Given the description of an element on the screen output the (x, y) to click on. 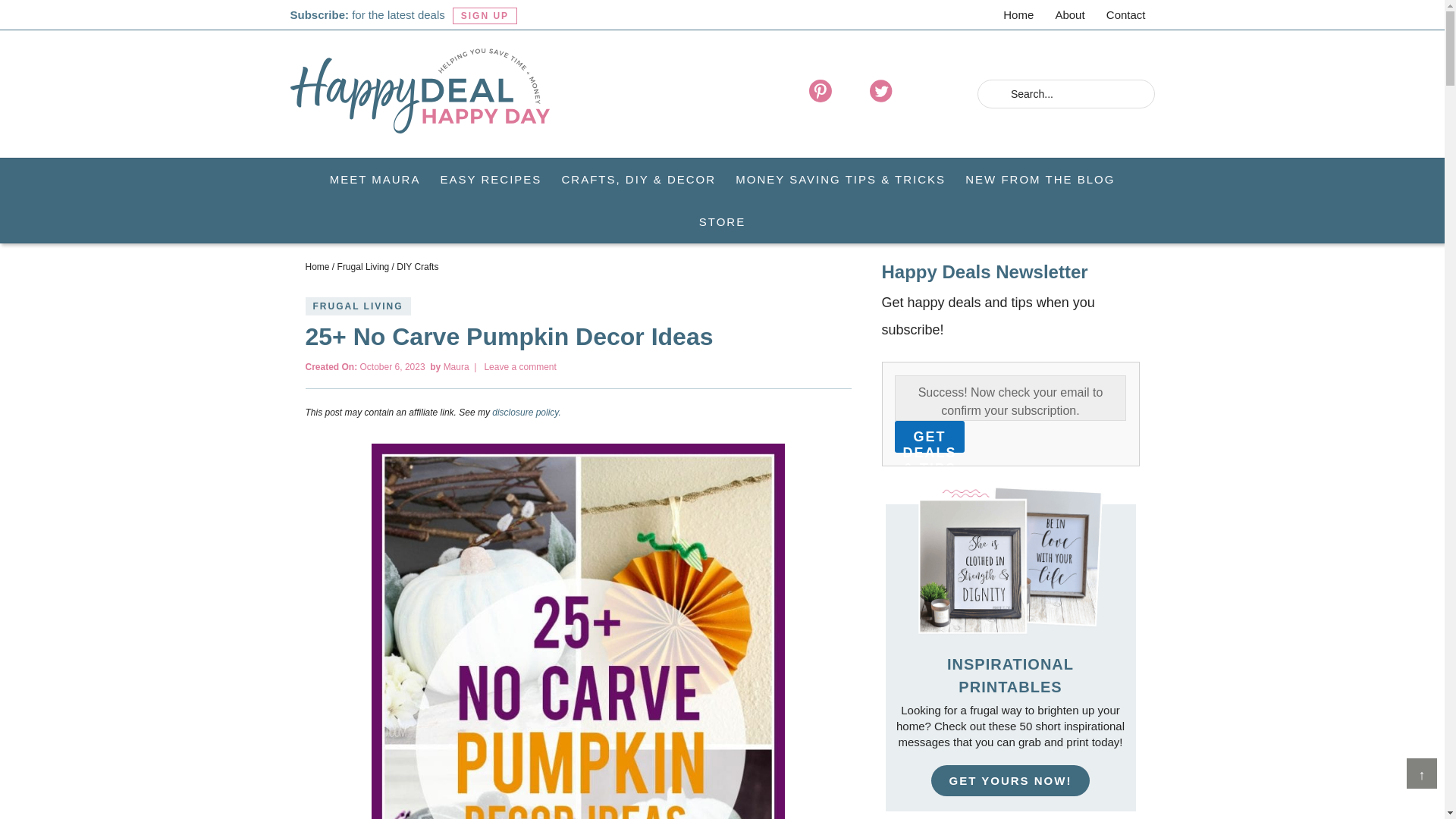
Search (1135, 95)
Search (1135, 95)
SIGN UP (484, 15)
